Given the description of an element on the screen output the (x, y) to click on. 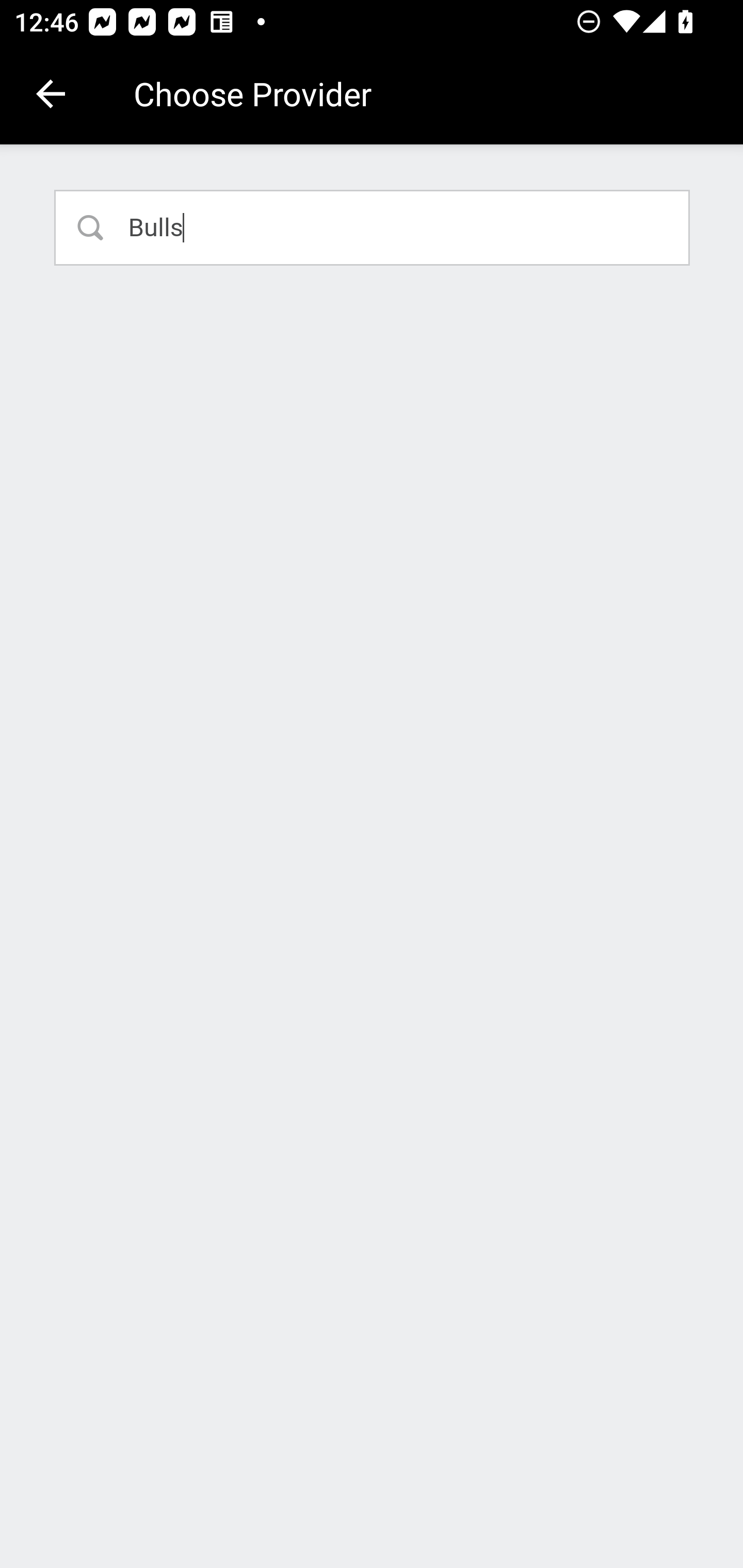
Navigate up (50, 93)
Bulls (372, 227)
